Given the description of an element on the screen output the (x, y) to click on. 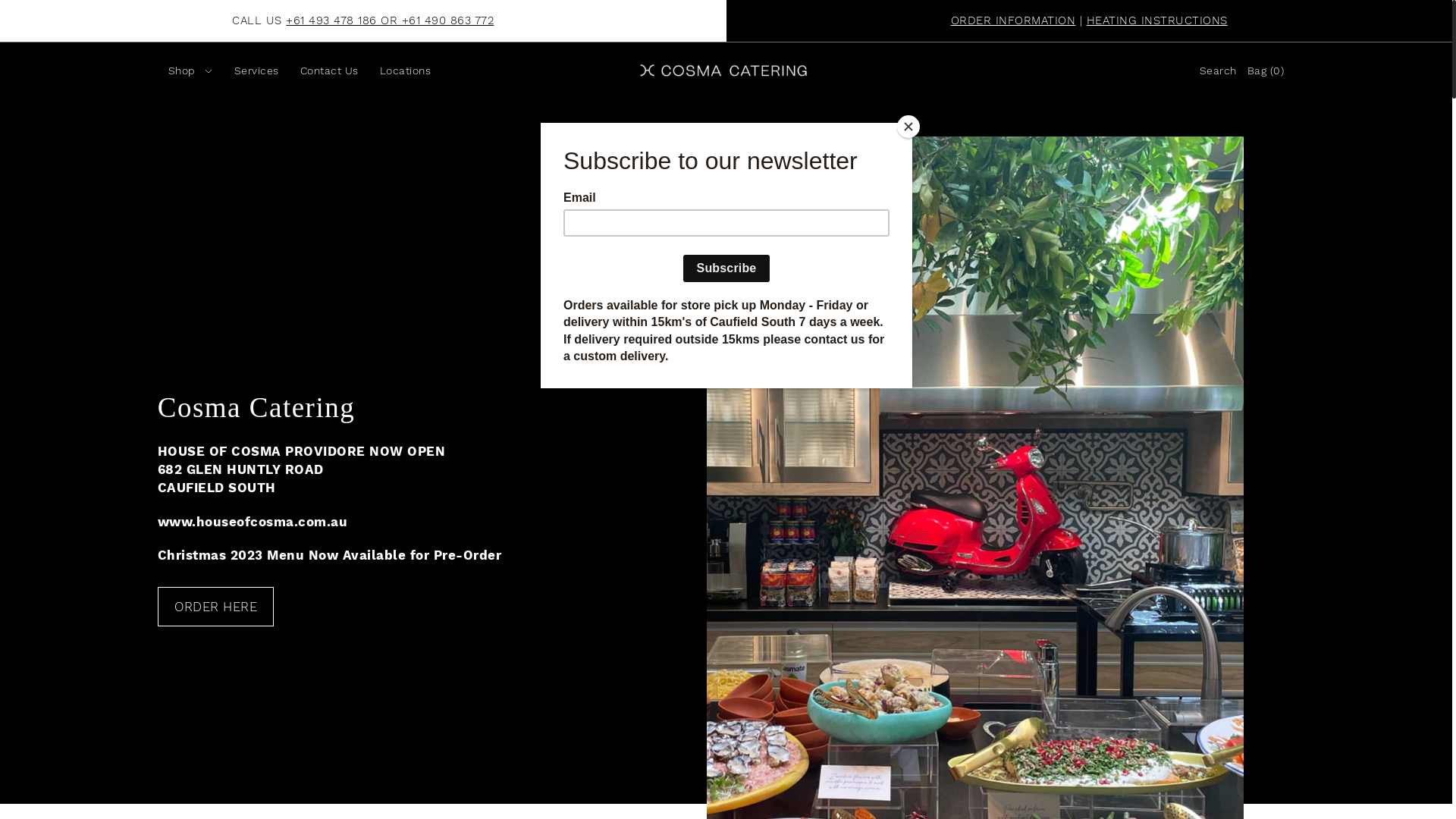
Shop Element type: text (190, 70)
+61 493 478 186 OR +61 490 863 772 Element type: text (389, 20)
ORDER HERE Element type: text (215, 606)
Bag (0) Element type: text (1265, 70)
Search Element type: text (1218, 70)
Services Element type: text (256, 70)
HEATING INSTRUCTIONS Element type: text (1156, 20)
Locations Element type: text (405, 70)
ORDER INFORMATION Element type: text (1013, 20)
Contact Us Element type: text (329, 70)
